Given the description of an element on the screen output the (x, y) to click on. 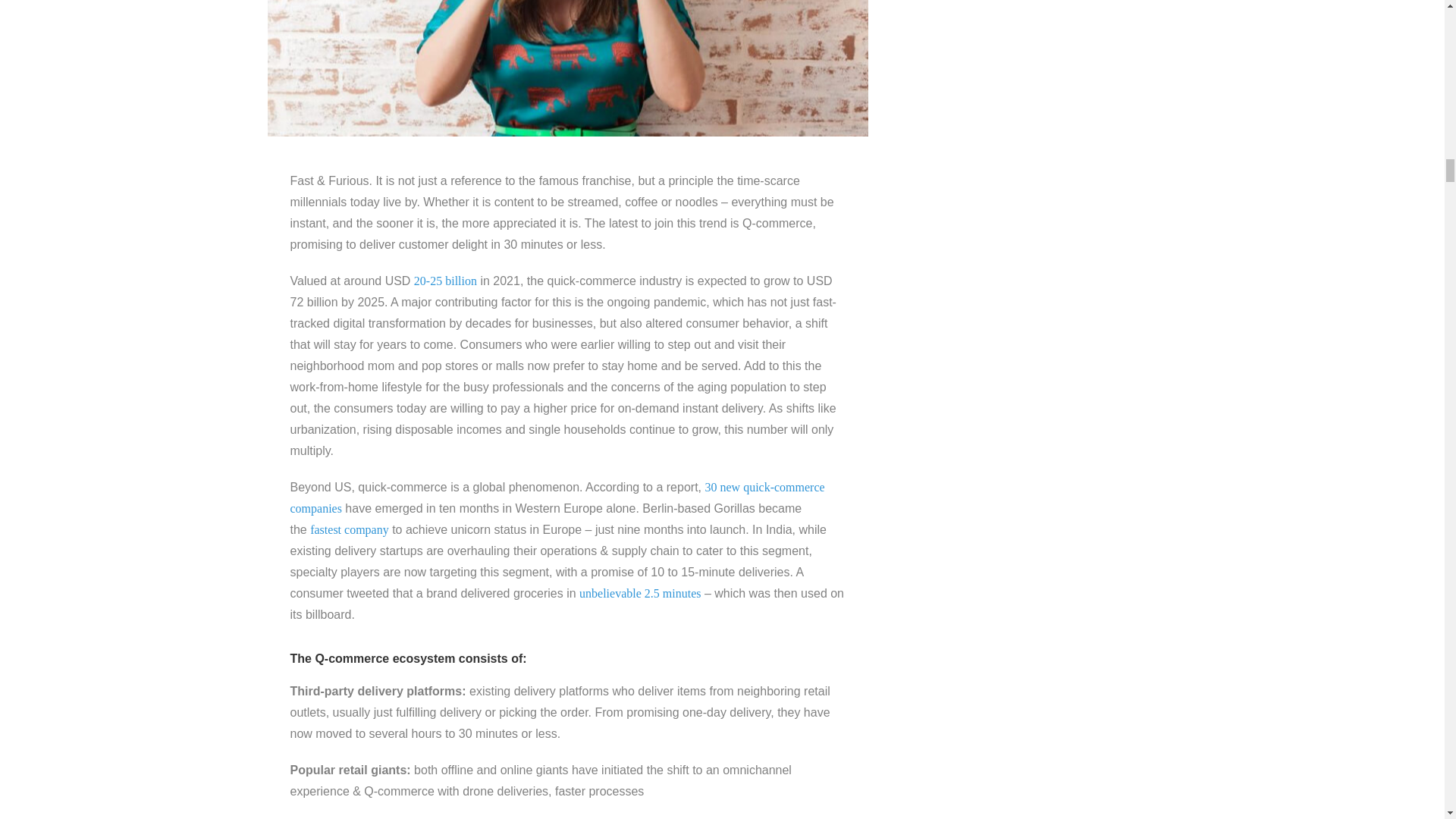
20-25 billion (445, 280)
fastest company (349, 529)
30 new quick-commerce companies (556, 497)
unbelievable 2.5 minutes (639, 593)
